Given the description of an element on the screen output the (x, y) to click on. 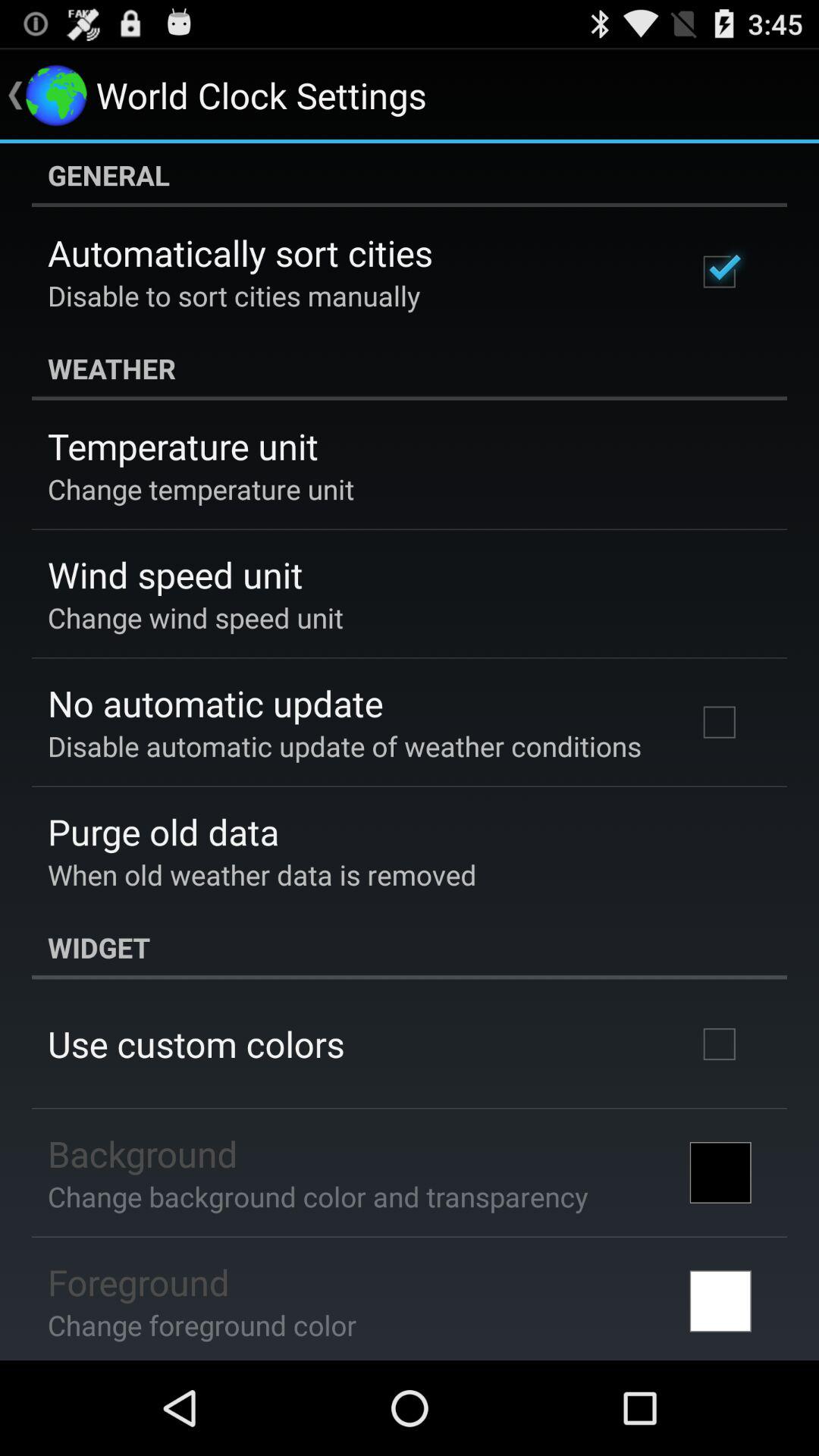
turn on the widget item (409, 947)
